Given the description of an element on the screen output the (x, y) to click on. 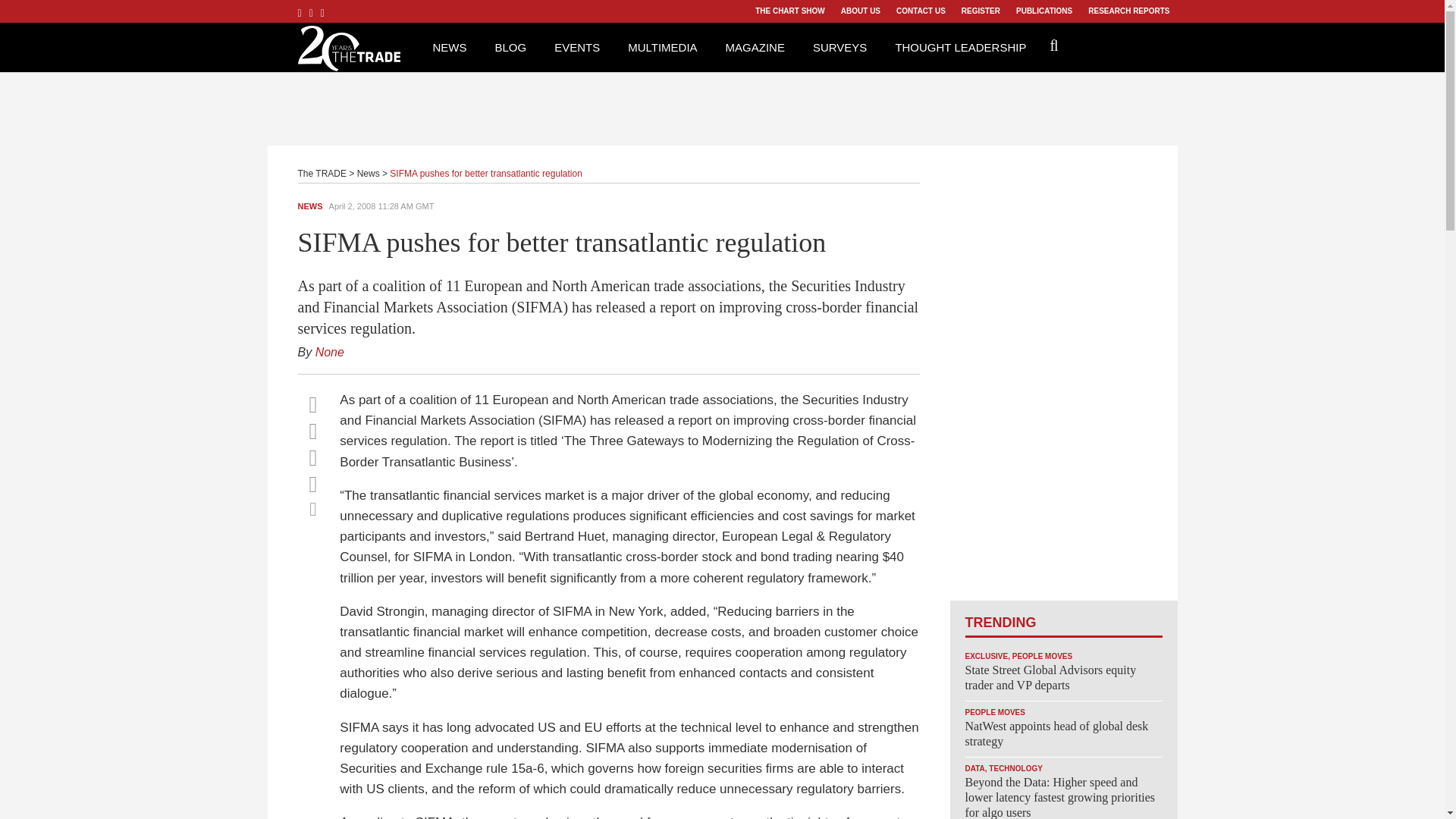
CONTACT US (920, 11)
Go to the News Category archives. (368, 173)
Print this article (311, 508)
Go to The TRADE. (321, 173)
PUBLICATIONS (1043, 11)
THE CHART SHOW (789, 11)
ABOUT US (860, 11)
3rd party ad content (1062, 372)
REGISTER (980, 11)
Email this article (312, 483)
3rd party ad content (722, 106)
